Given the description of an element on the screen output the (x, y) to click on. 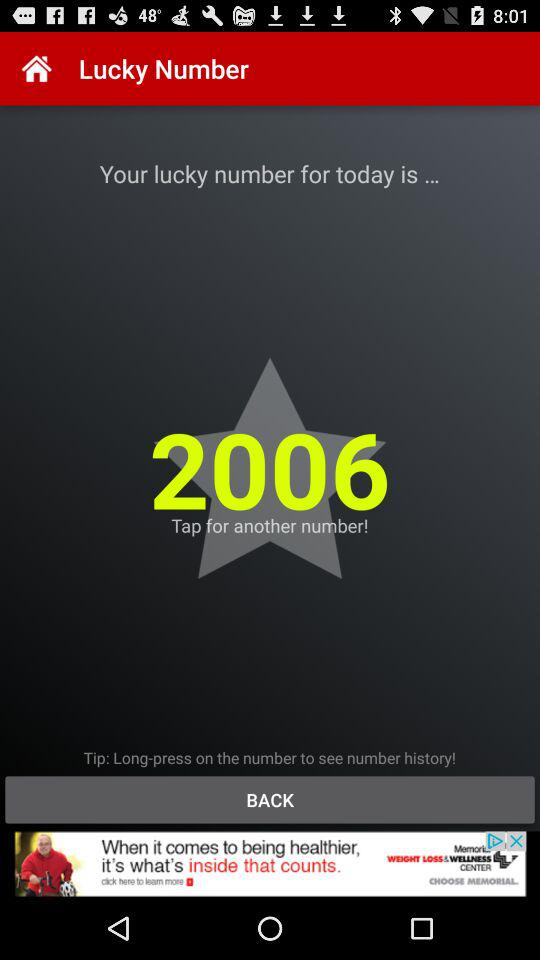
select advertisement (270, 864)
